Given the description of an element on the screen output the (x, y) to click on. 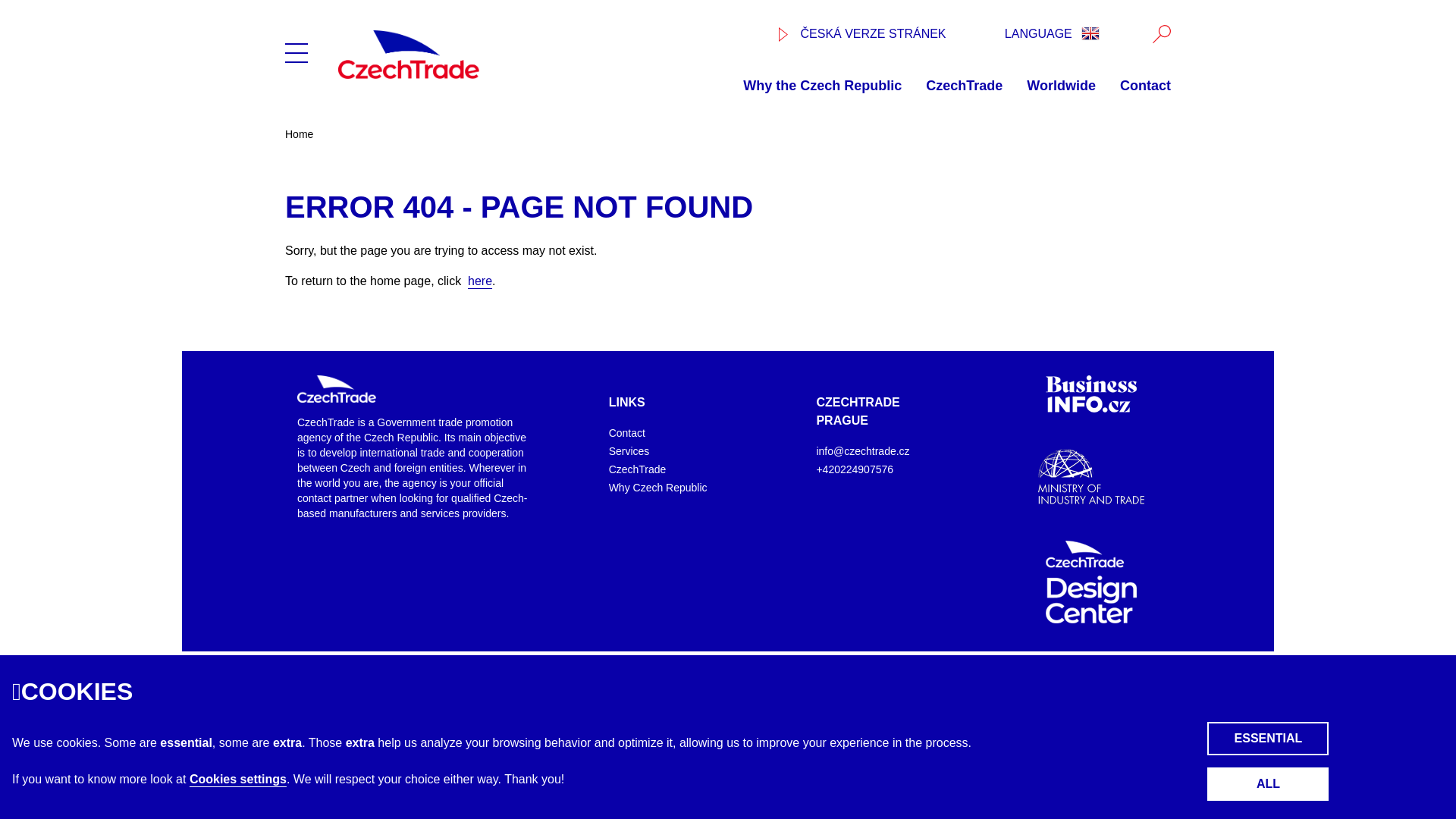
LANGUAGE (1052, 27)
Contact (626, 432)
CzechTrade (964, 85)
www.czechtrade.cz (862, 33)
Contact (1144, 85)
Vyhledat (1161, 34)
Why Czech Republic (657, 487)
Home (299, 133)
CzechTrade (637, 469)
CzechTrade (336, 388)
Why the Czech Republic (821, 85)
EN (1090, 33)
CzechTrade (471, 54)
Contact (626, 432)
here (479, 280)
